Given the description of an element on the screen output the (x, y) to click on. 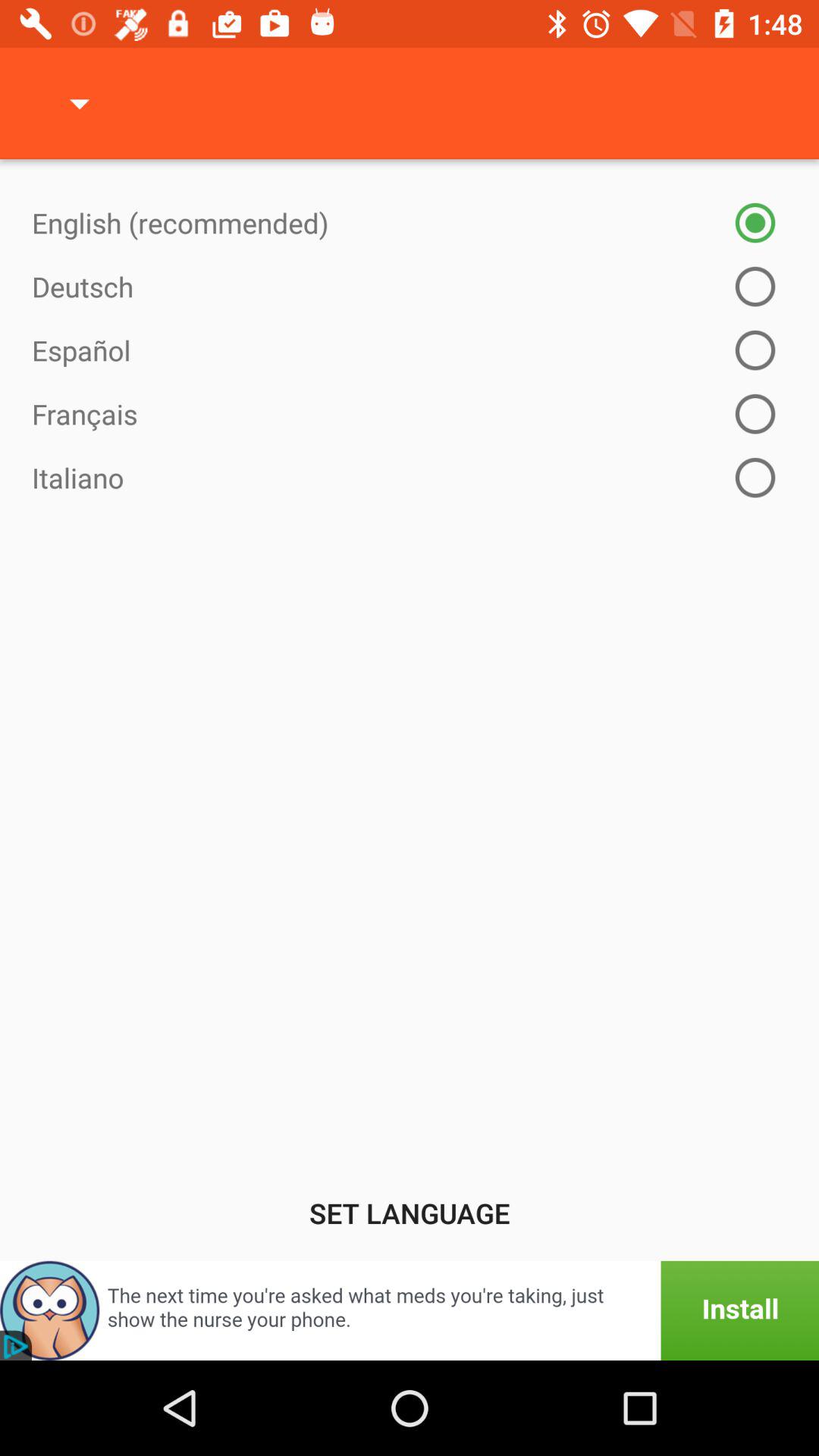
advertisement (409, 1310)
